Given the description of an element on the screen output the (x, y) to click on. 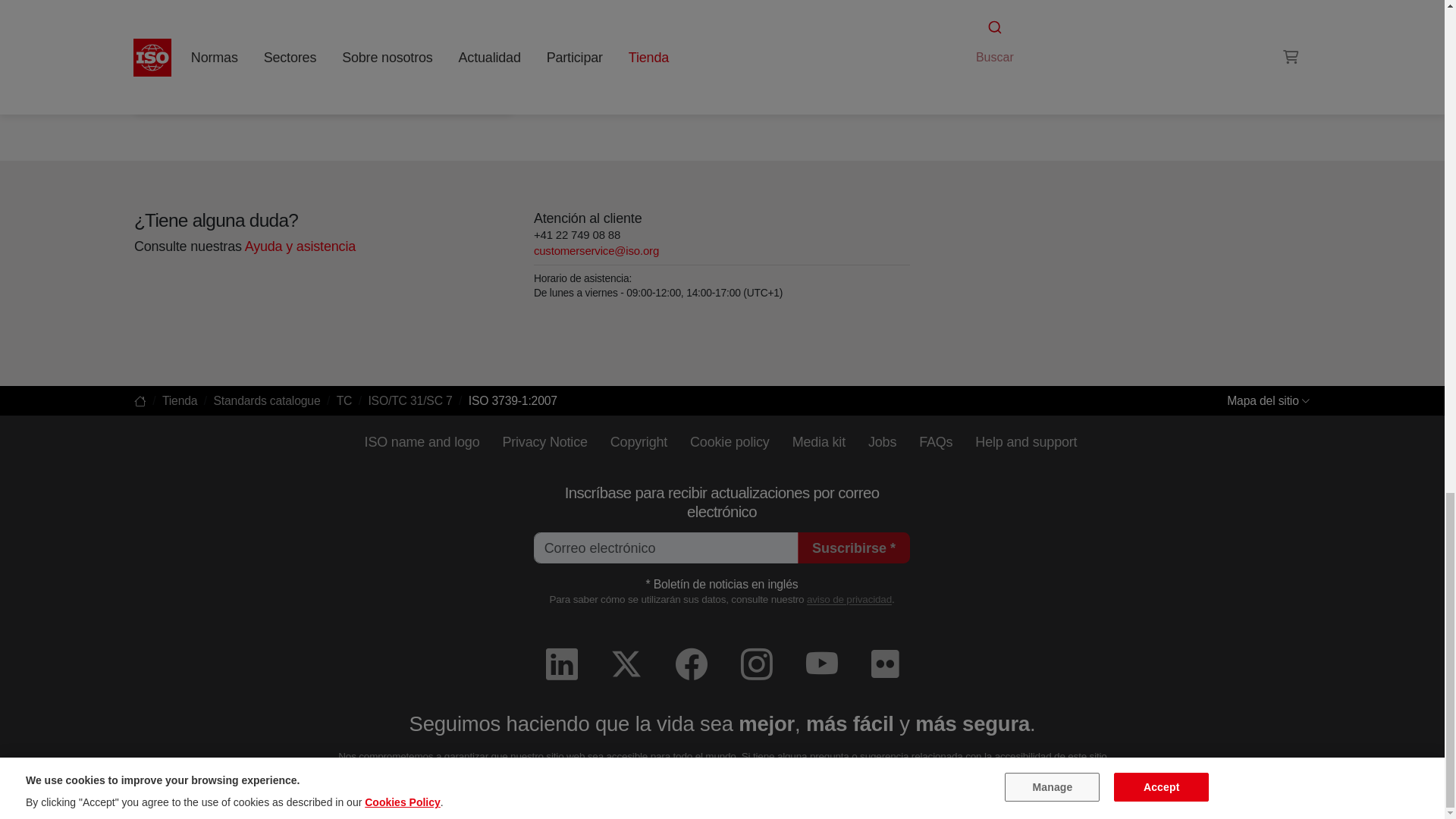
Sustainable Cities and Communities (312, 87)
Industry, Innovation and Infrastructure (334, 87)
